Given the description of an element on the screen output the (x, y) to click on. 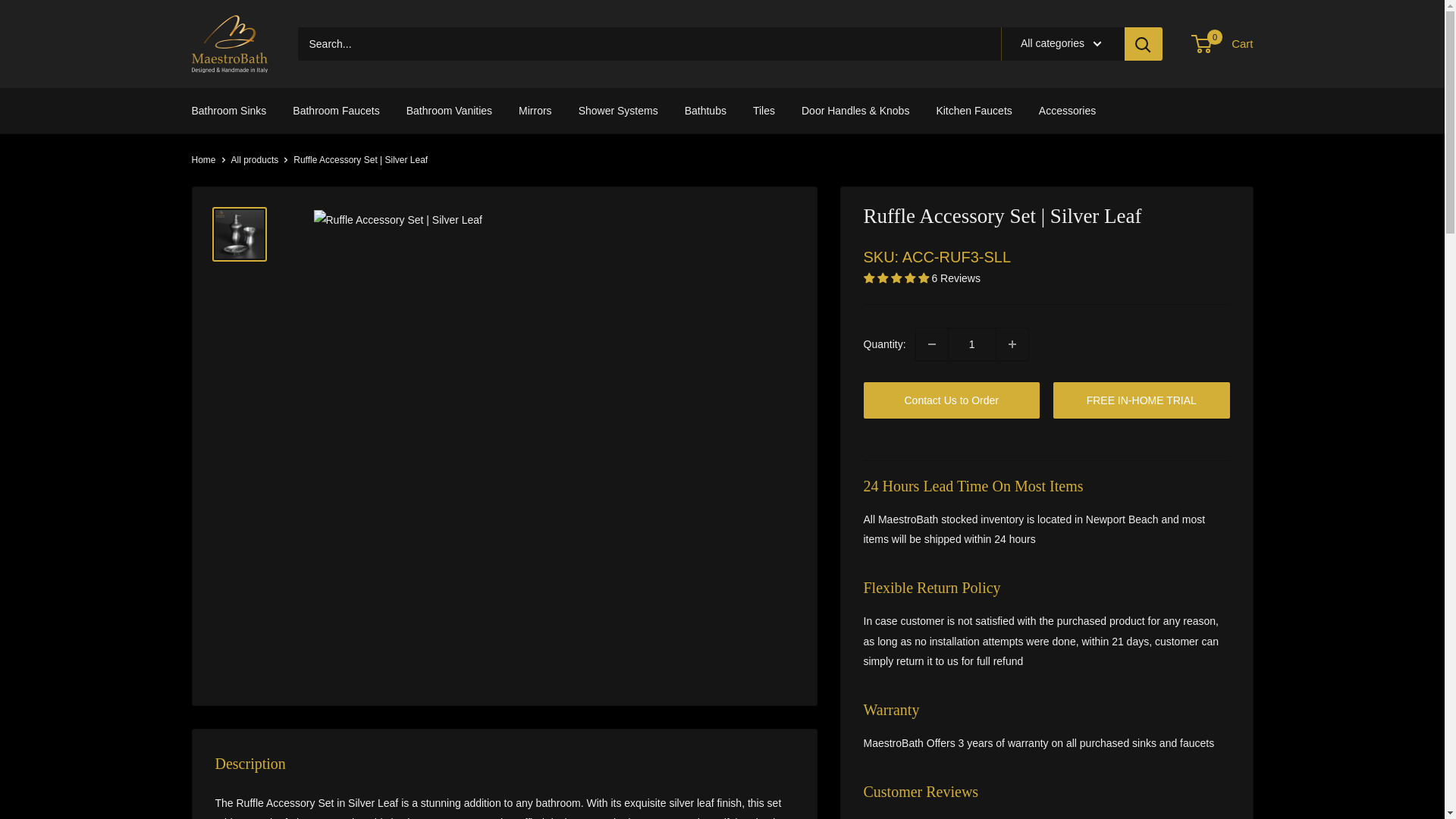
1 (971, 344)
Decrease quantity by 1 (931, 344)
Increase quantity by 1 (1011, 344)
